Given the description of an element on the screen output the (x, y) to click on. 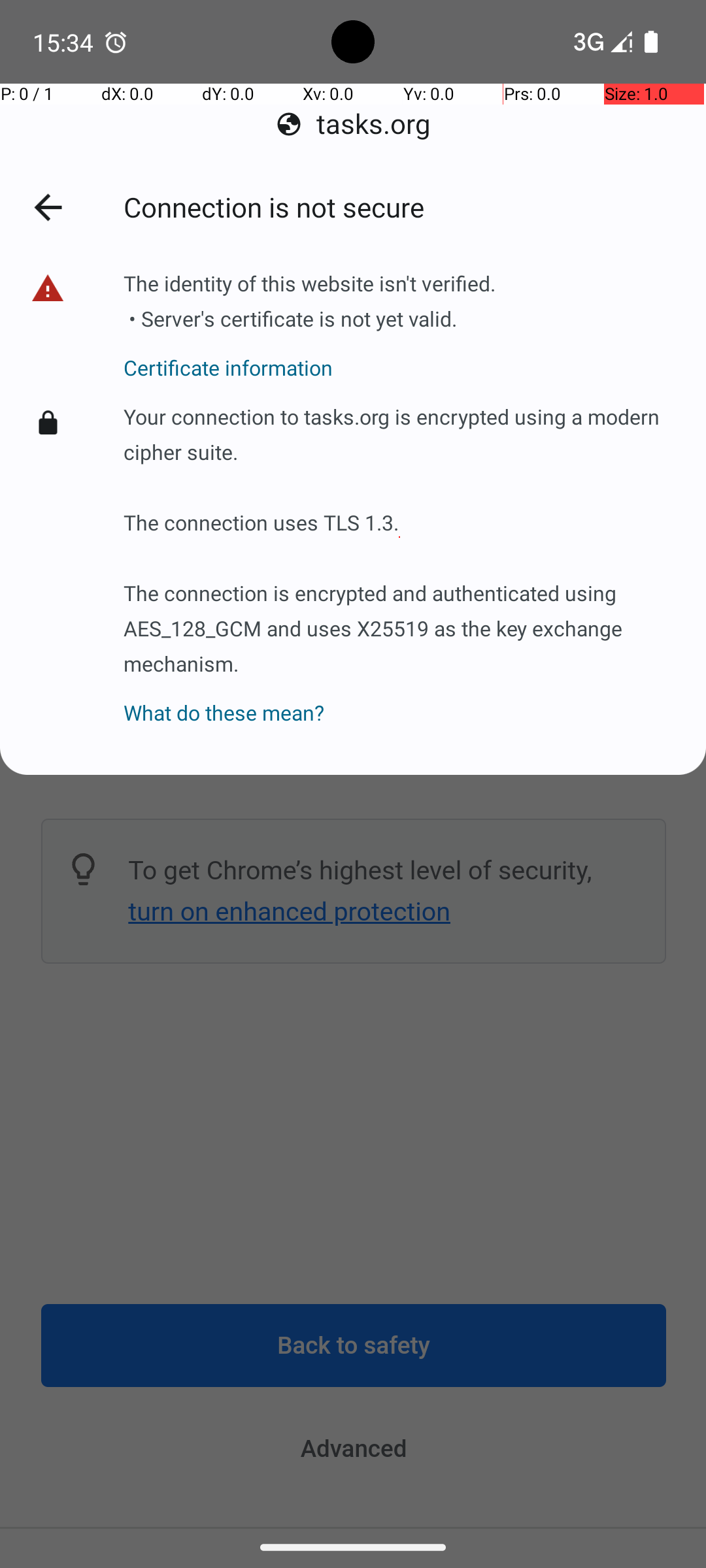
The identity of this website isn't verified.
 • Server's certificate is not yet valid. Element type: android.widget.TextView (311, 305)
Certificate information Element type: android.widget.TextView (311, 359)
Your connection to tasks.org is encrypted using a modern cipher suite.

The connection uses TLS 1.3.

The connection is encrypted and authenticated using AES_128_GCM and uses X25519 as the key exchange mechanism. Element type: android.widget.TextView (399, 536)
What do these mean? Element type: android.widget.TextView (399, 694)
tasks.org Element type: android.widget.TextView (352, 124)
